Given the description of an element on the screen output the (x, y) to click on. 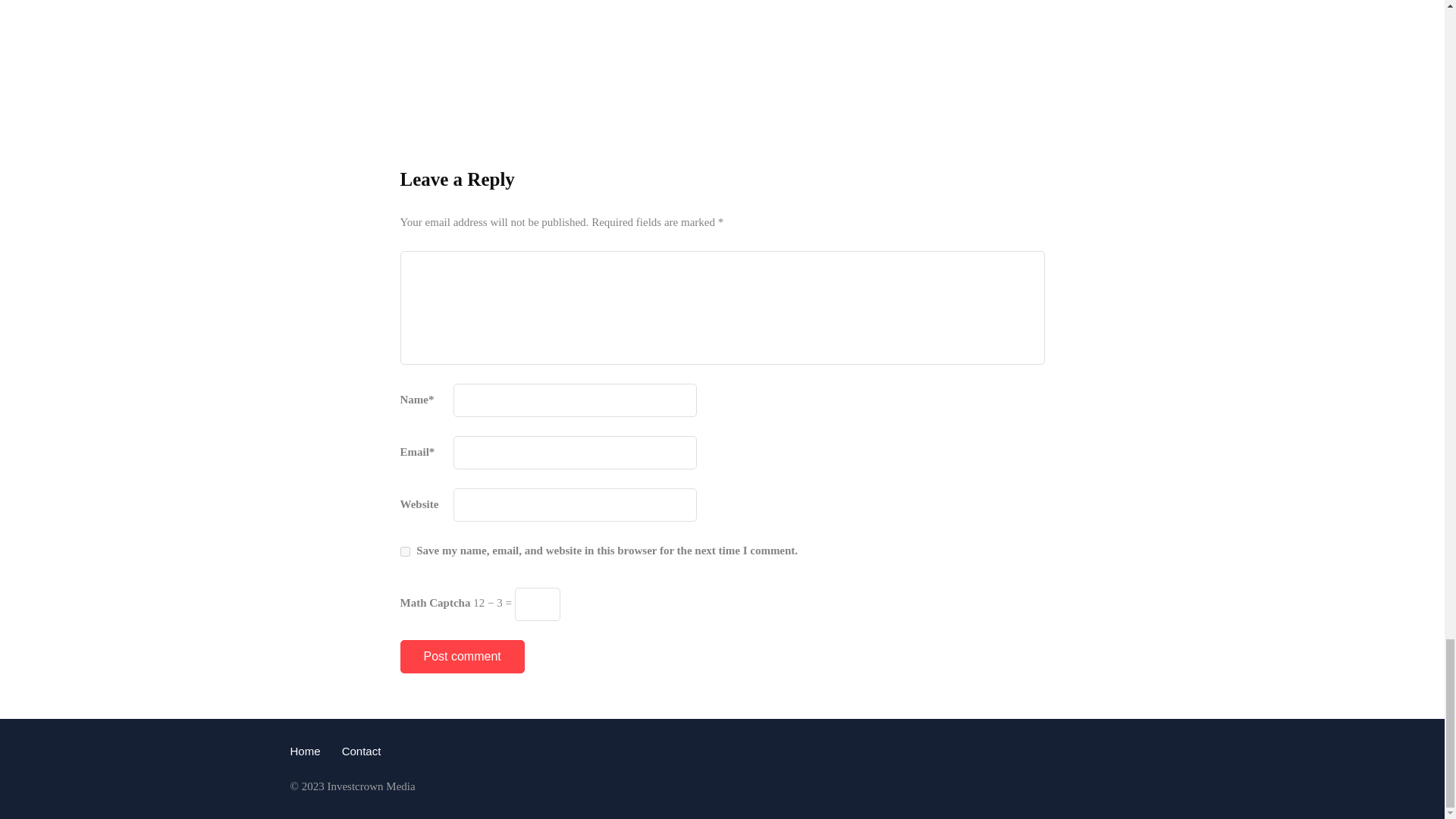
yes (405, 551)
Post comment (462, 656)
